Given the description of an element on the screen output the (x, y) to click on. 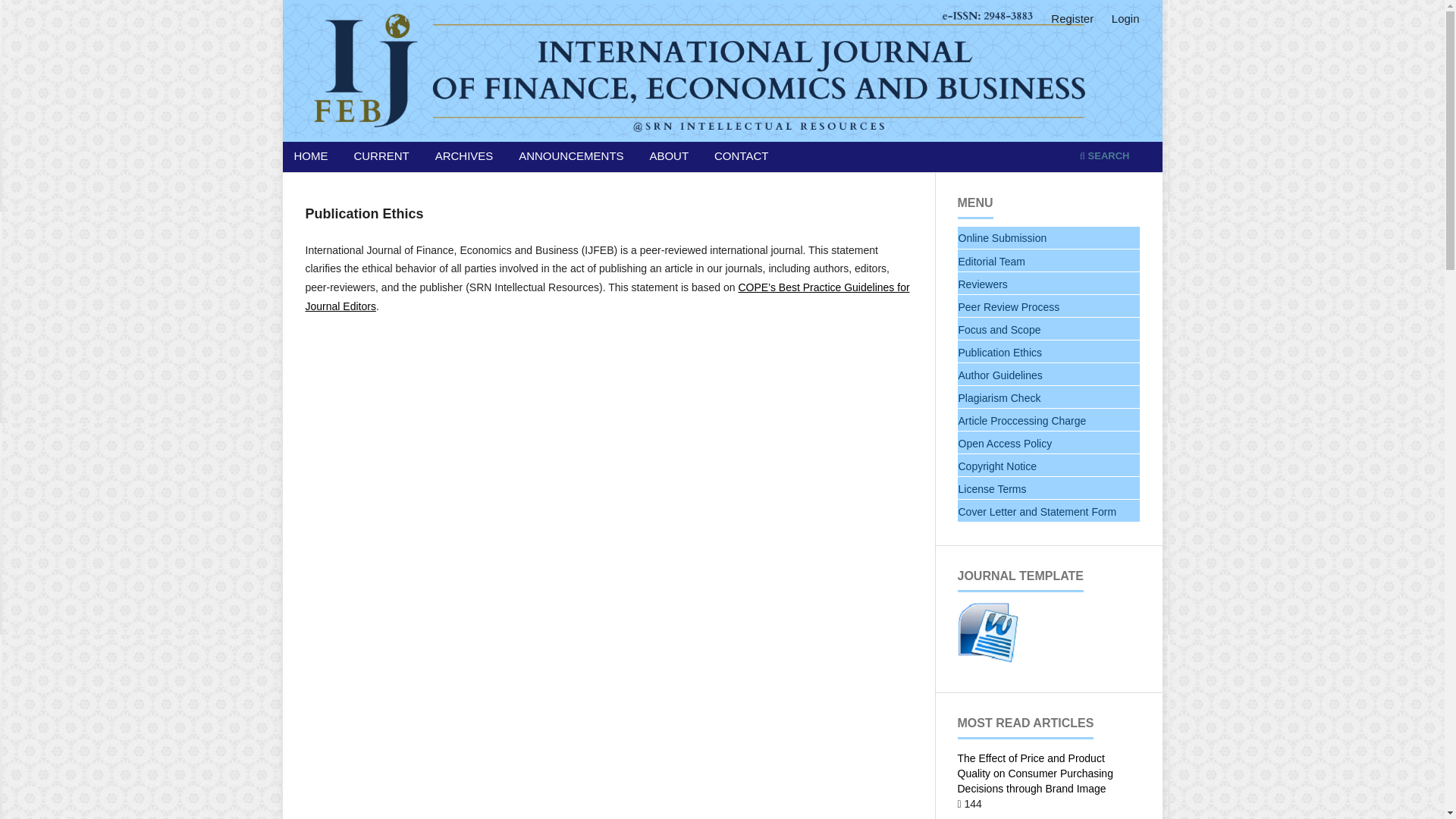
Reviewers (1048, 283)
CURRENT (380, 158)
Online Submission (1048, 237)
HOME (310, 158)
Register (1071, 18)
Plagiarism Check (1048, 396)
Peer Review Process (1048, 305)
ANNOUNCEMENTS (570, 158)
ARCHIVES (464, 158)
